Given the description of an element on the screen output the (x, y) to click on. 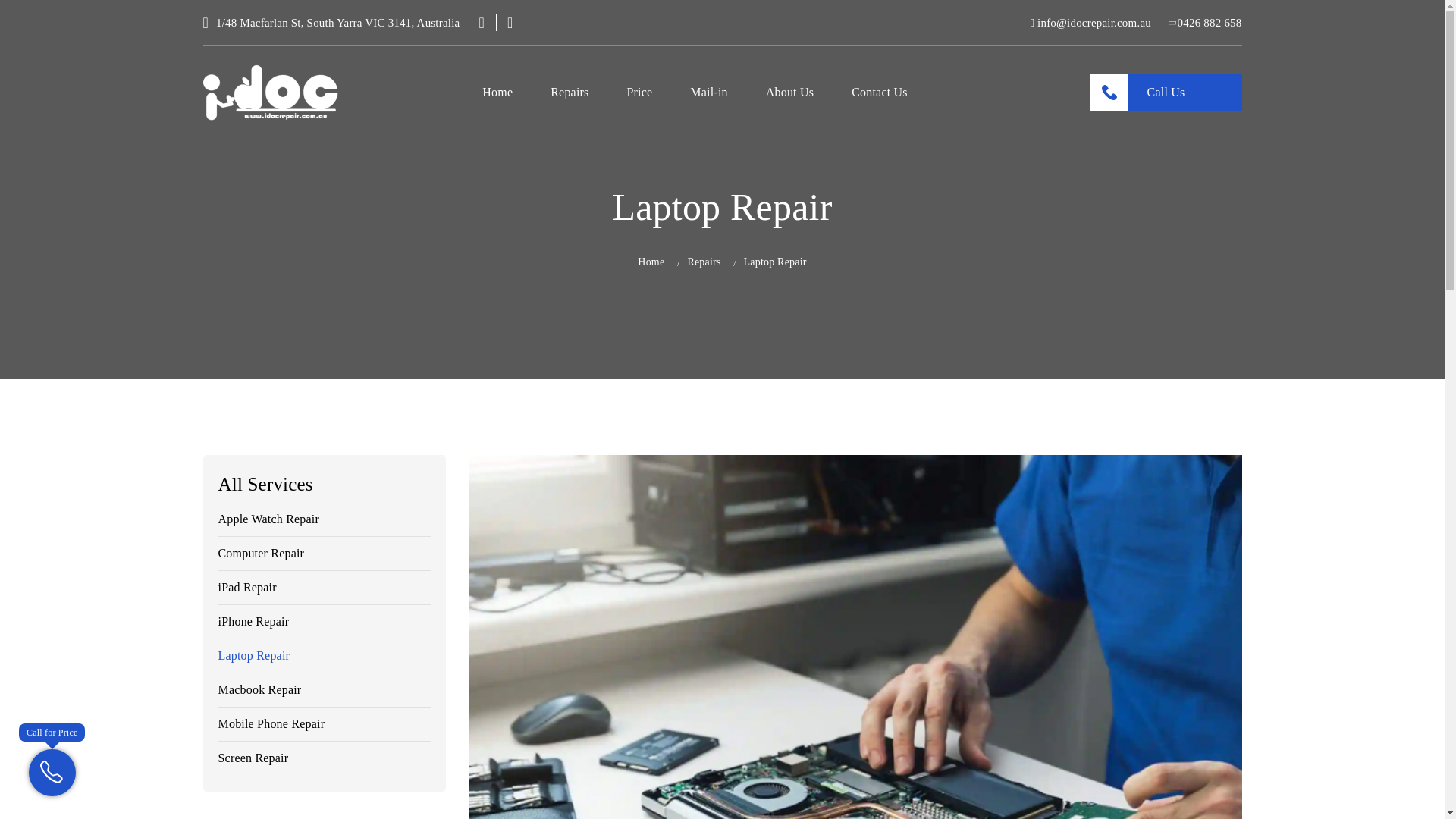
Computer Repair (261, 553)
iPad Repair (247, 587)
0426 882 658 (1205, 22)
0426 882 658 (1205, 22)
Apple Watch Repair (269, 519)
Mobile Phone Repair (271, 723)
Screen Repair (253, 758)
About Us (789, 92)
Laptop Repair (253, 656)
Macbook Repair (259, 689)
